Given the description of an element on the screen output the (x, y) to click on. 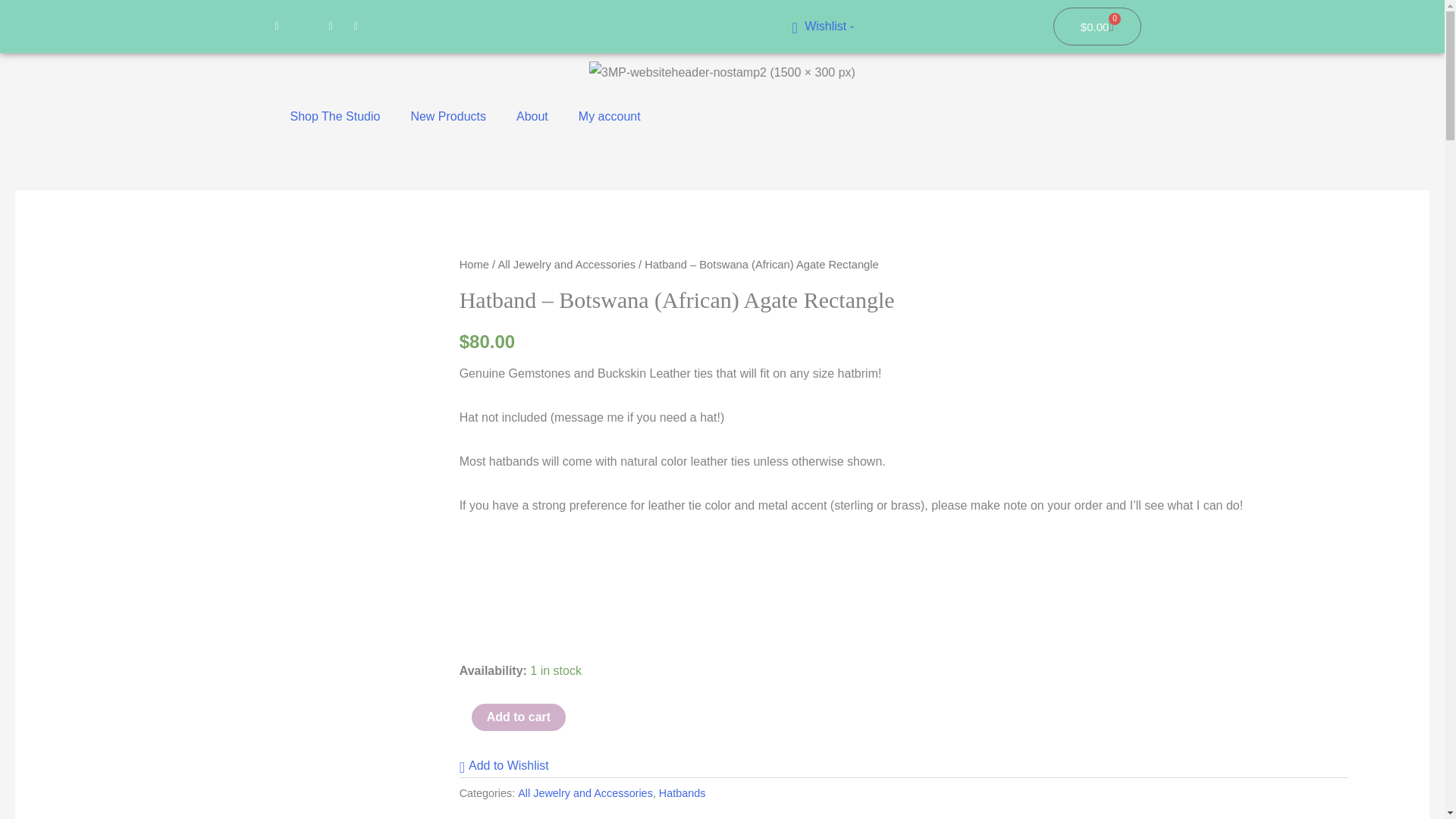
Wishlist - (822, 25)
Facebook-f (330, 25)
Add to Wishlist (504, 765)
Add to cart (518, 717)
My account (609, 116)
All Jewelry and Accessories (585, 793)
About (531, 116)
All Jewelry and Accessories (565, 264)
Shop The Studio (334, 116)
Instagram (355, 25)
New Products (447, 116)
Home (474, 264)
Hatbands (682, 793)
